Given the description of an element on the screen output the (x, y) to click on. 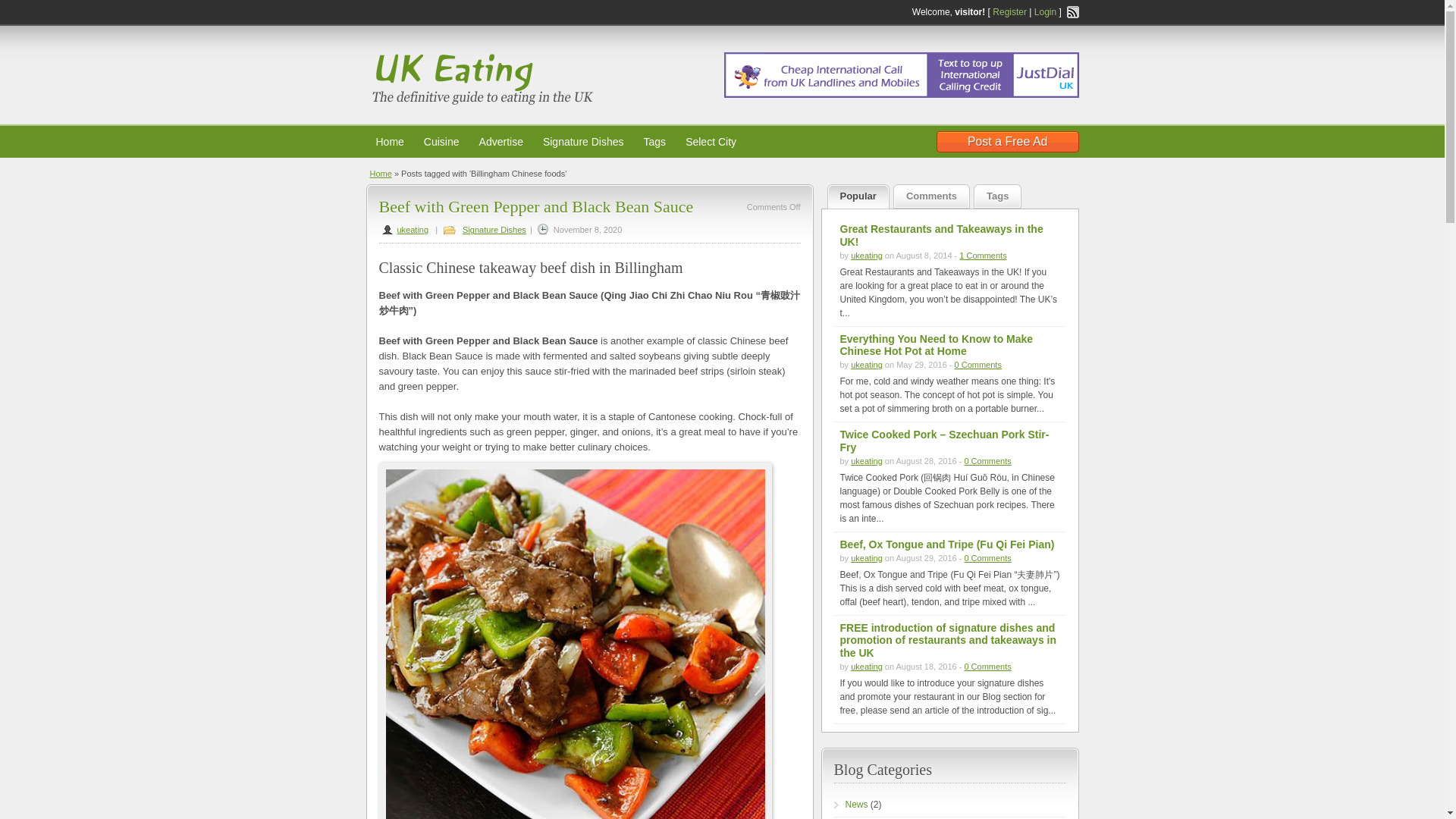
Login (1045, 11)
RSS Feed (1071, 11)
Tags (655, 141)
Advertise (501, 141)
RSS Feed (1071, 11)
Select City (711, 141)
Cuisine (441, 141)
Signature Dishes (583, 141)
Home (390, 141)
Register (1009, 11)
